Given the description of an element on the screen output the (x, y) to click on. 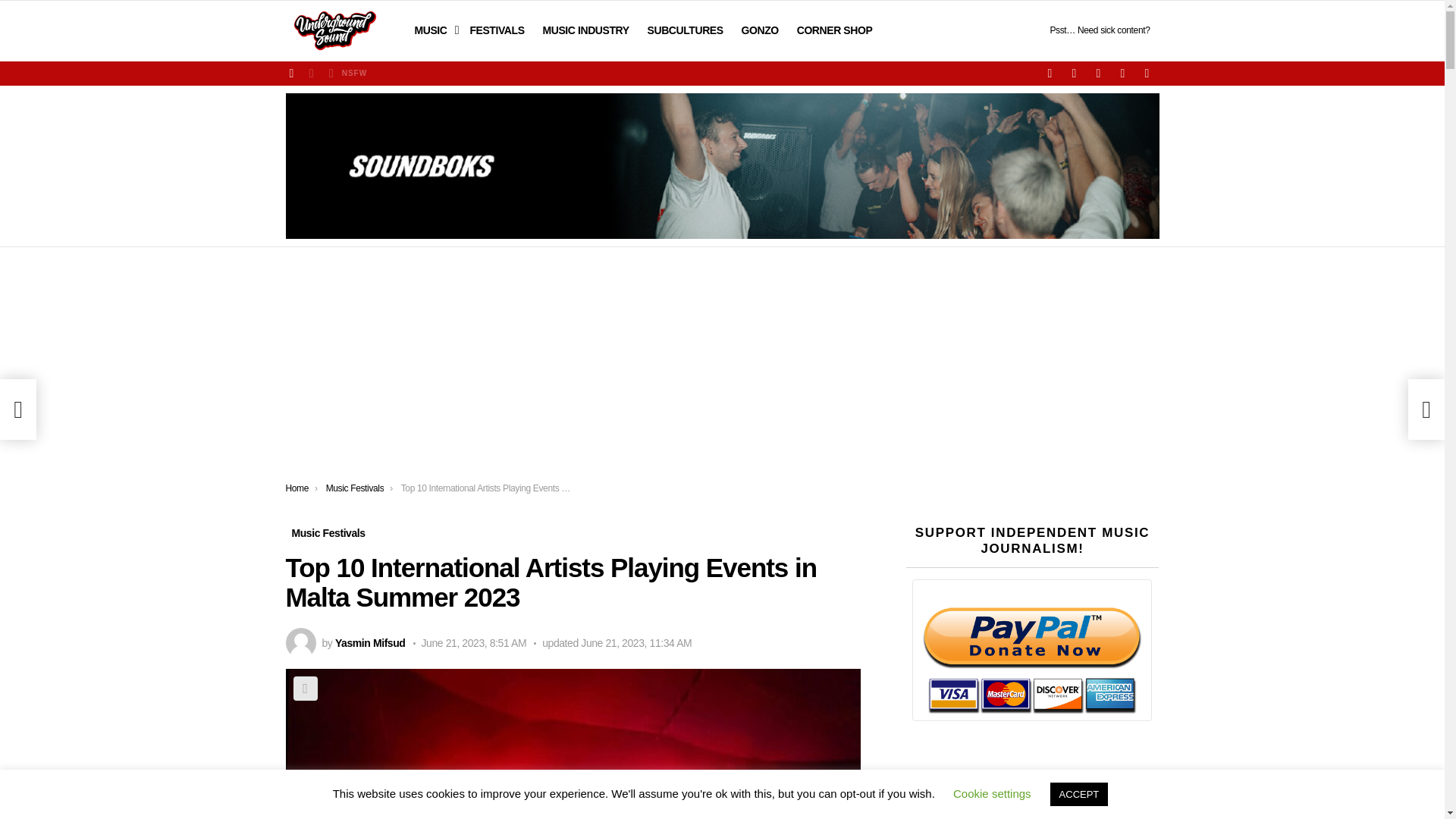
Music Festivals (355, 488)
MUSIC (432, 29)
Posts by Yasmin Mifsud (370, 643)
Toggle NSFW (345, 73)
GONZO (759, 29)
FESTIVALS (496, 29)
CORNER SHOP (834, 29)
NSFW (345, 73)
instagram (1073, 73)
Home (296, 488)
facebook (1048, 73)
youtube (1097, 73)
MUSIC INDUSTRY (586, 29)
spotify (1121, 73)
